Given the description of an element on the screen output the (x, y) to click on. 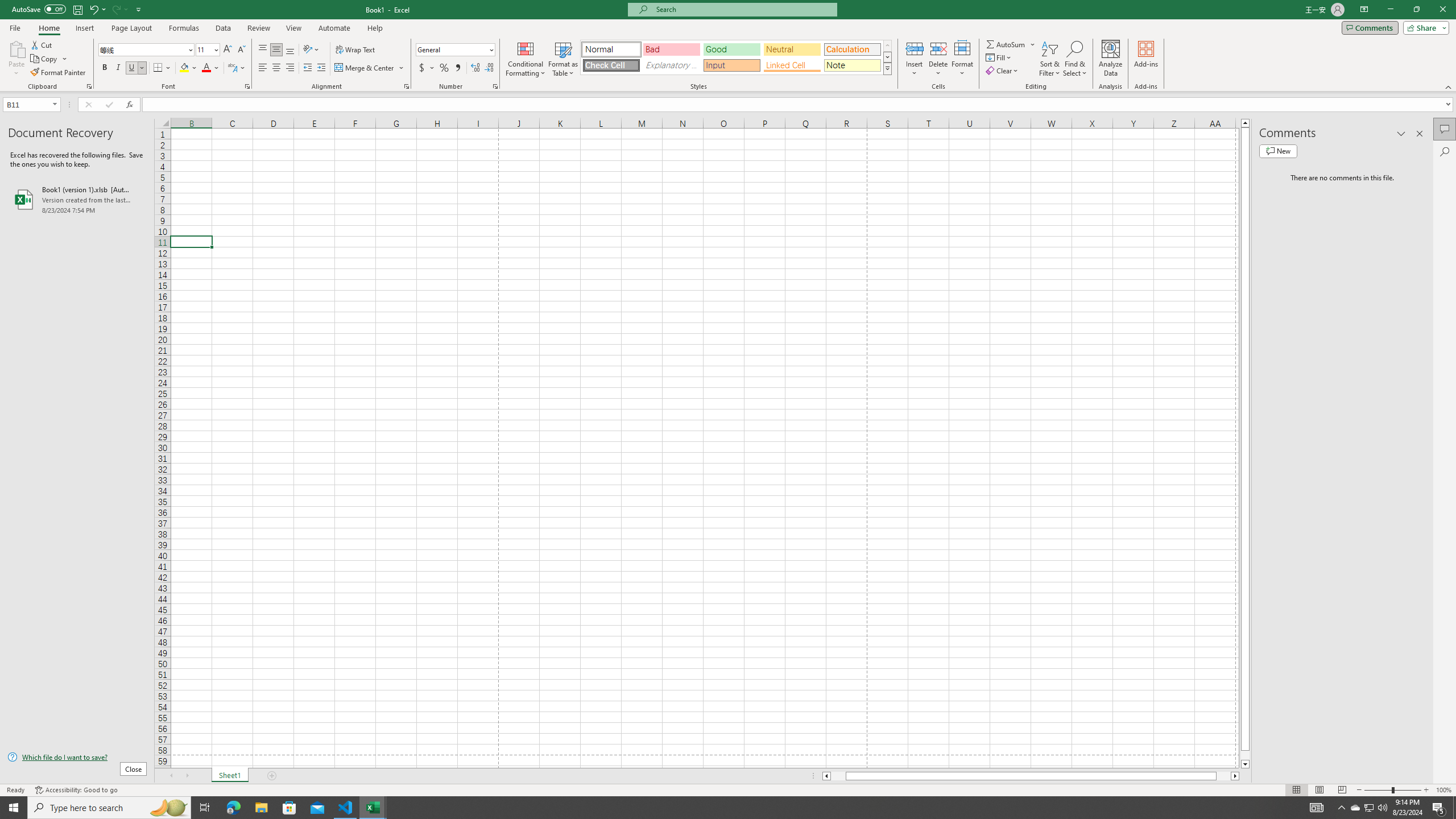
Linked Cell (791, 65)
Font (142, 49)
Delete (938, 58)
Show Phonetic Field (231, 67)
Delete Cells... (938, 48)
Conditional Formatting (525, 58)
Copy (49, 58)
